Given the description of an element on the screen output the (x, y) to click on. 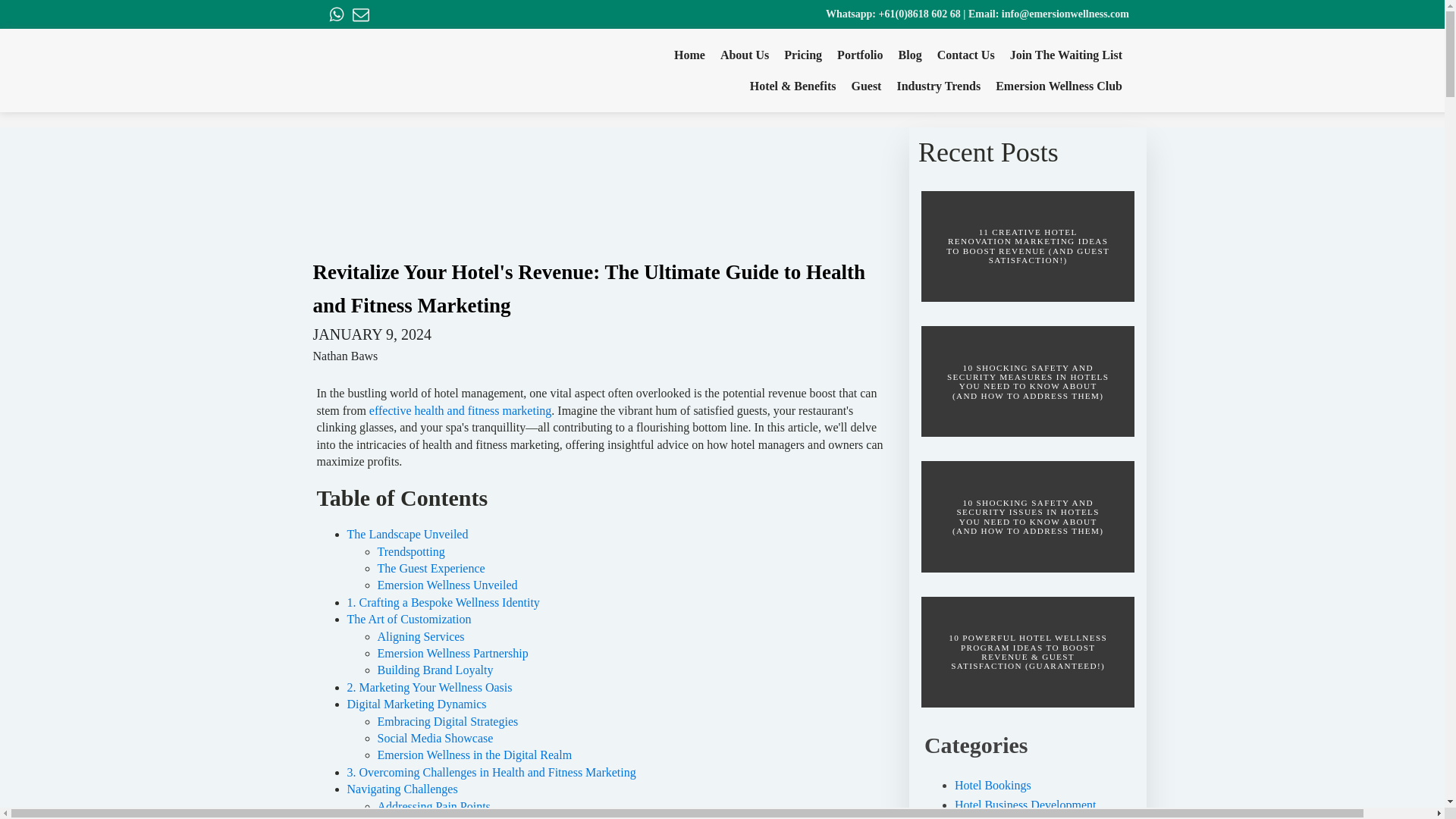
Pricing (806, 55)
Blog (914, 55)
About Us (748, 55)
Home (693, 55)
Portfolio (863, 55)
